Given the description of an element on the screen output the (x, y) to click on. 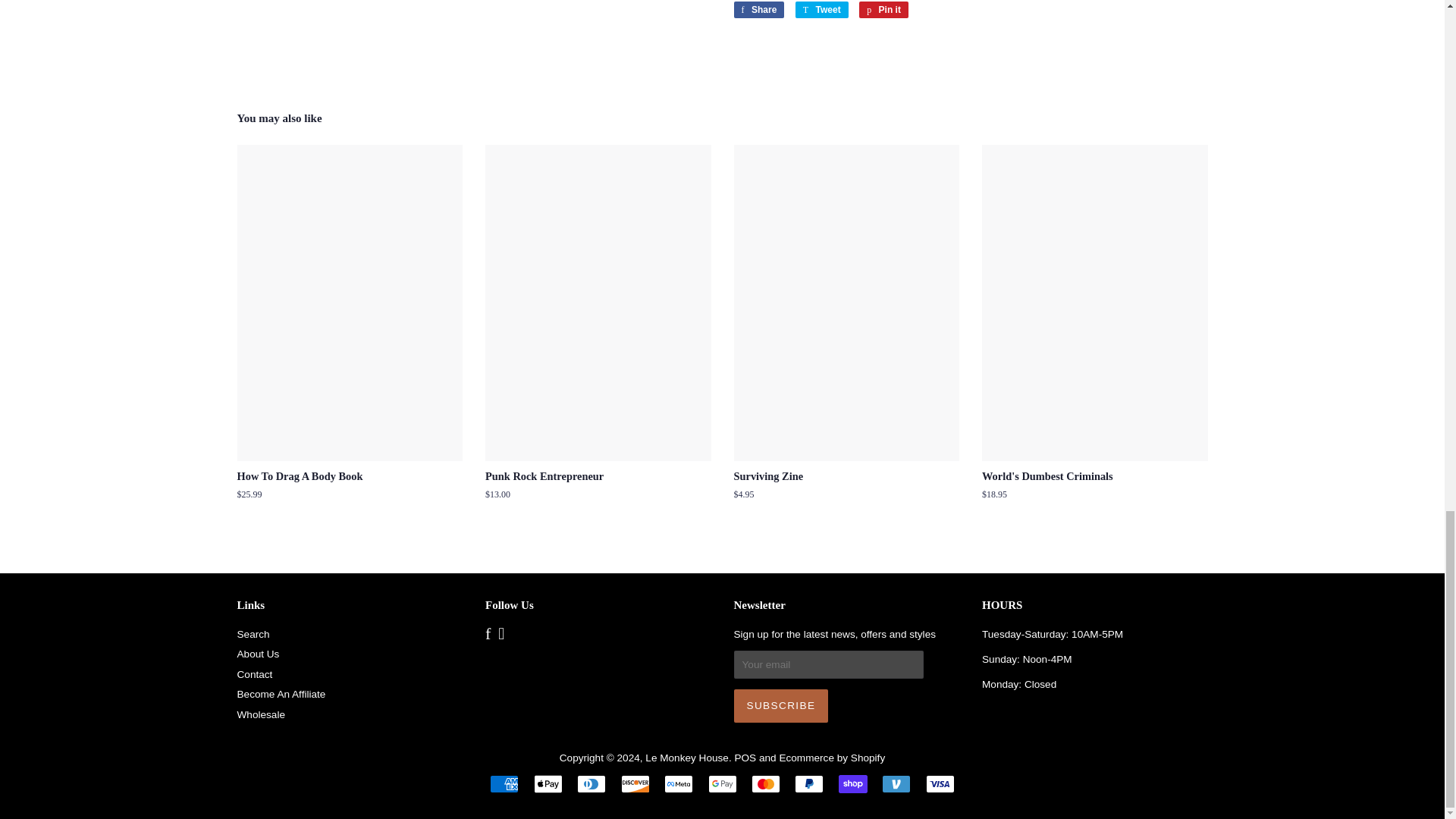
Discover (635, 783)
American Express (503, 783)
Venmo (896, 783)
Apple Pay (548, 783)
Google Pay (721, 783)
Shop Pay (852, 783)
Subscribe (780, 705)
Pin on Pinterest (883, 9)
Diners Club (590, 783)
Visa (940, 783)
